Given the description of an element on the screen output the (x, y) to click on. 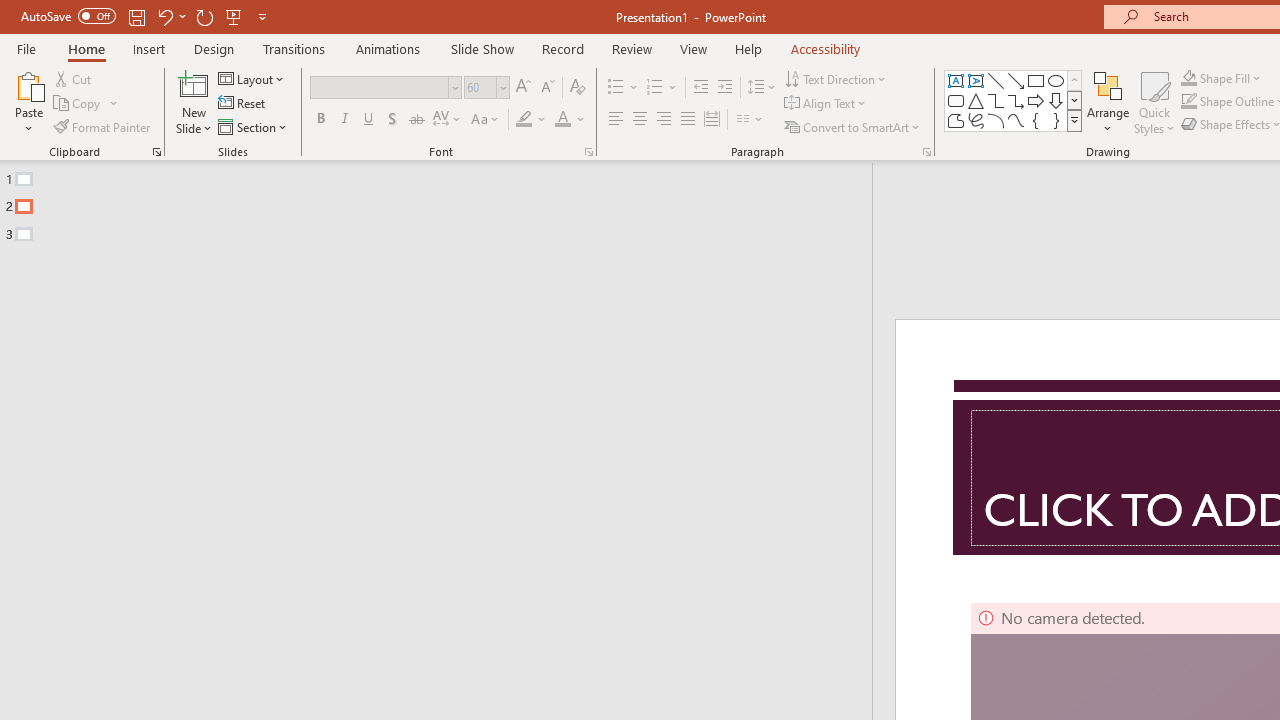
Shape Outline Blue, Accent 1 (1188, 101)
